Given the description of an element on the screen output the (x, y) to click on. 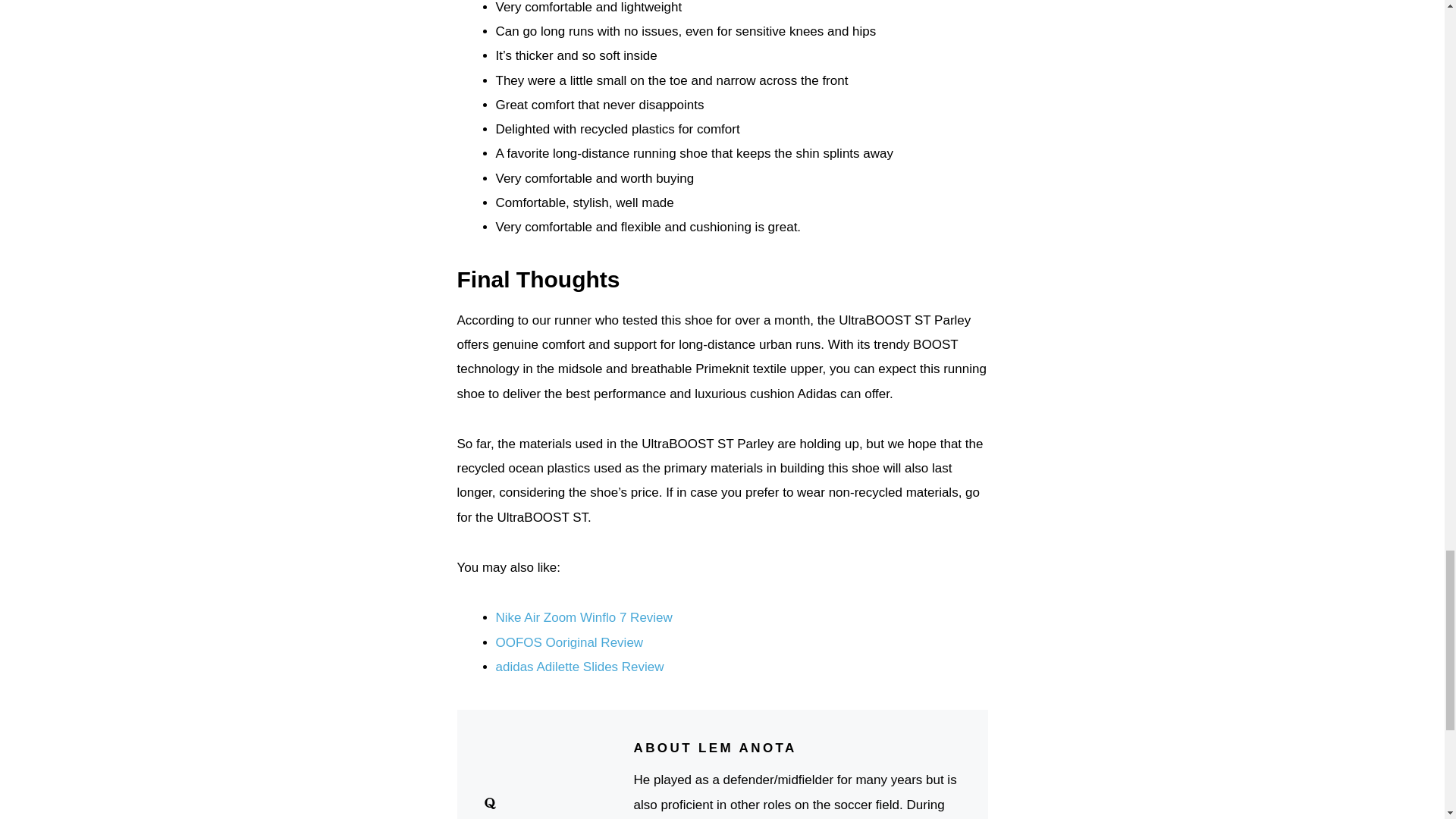
Nike Air Zoom Winflo 7 Review (584, 617)
OOFOS Ooriginal Review (569, 642)
adidas Adilette Slides Review (579, 667)
